Given the description of an element on the screen output the (x, y) to click on. 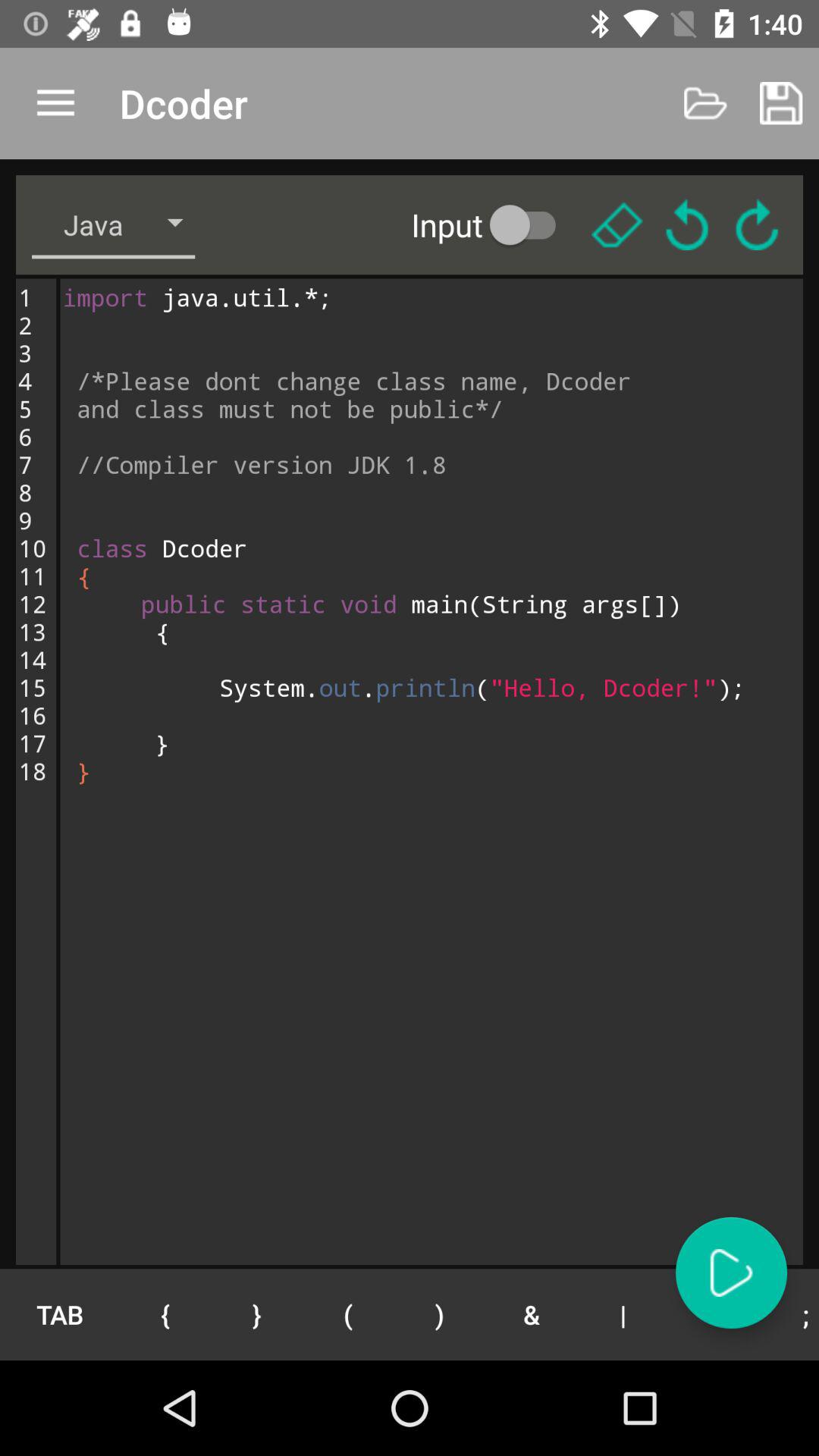
click there (616, 224)
